Given the description of an element on the screen output the (x, y) to click on. 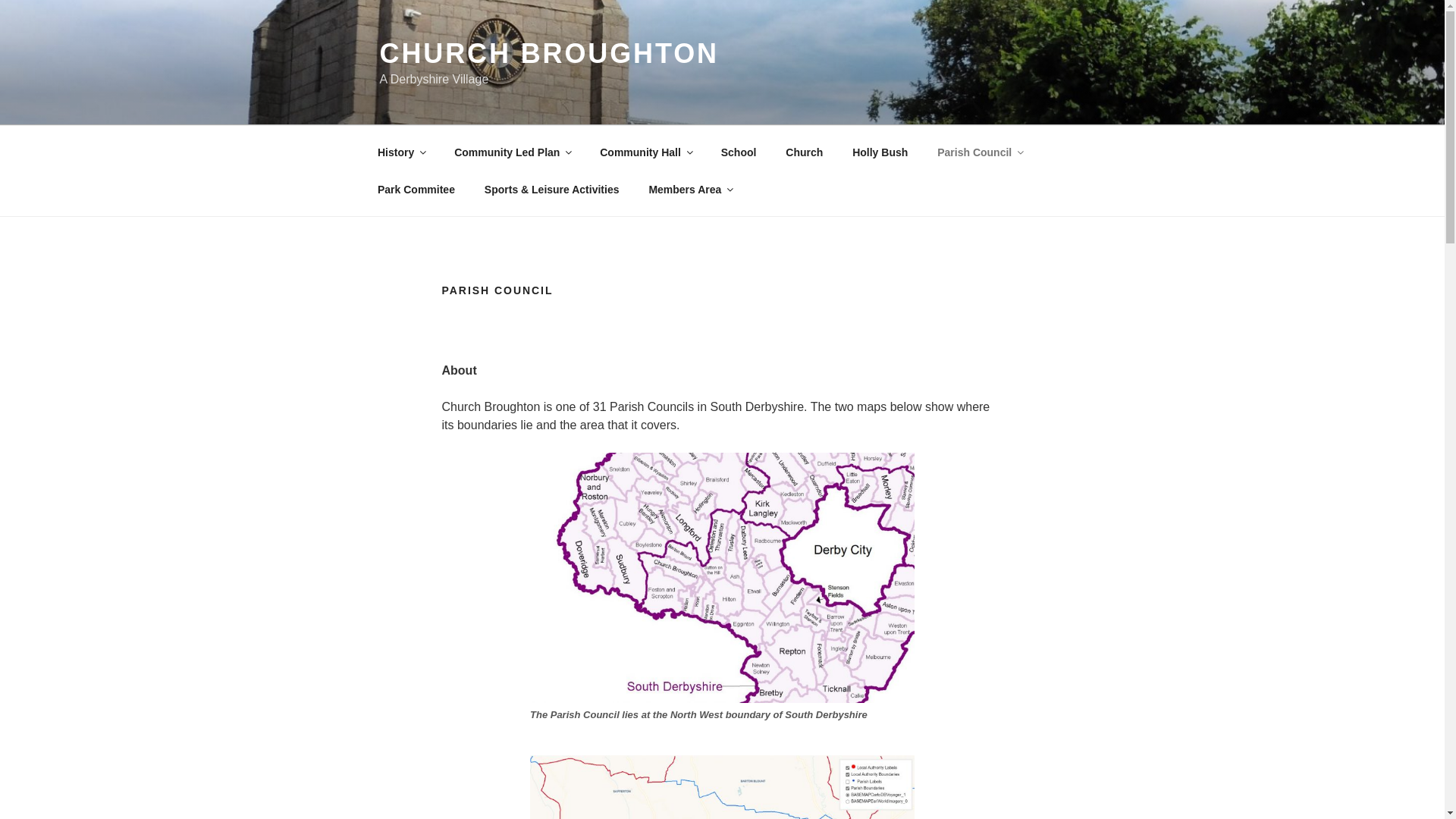
Community Hall (645, 151)
School (738, 151)
Community Led Plan (512, 151)
History (401, 151)
Parish Council (979, 151)
CHURCH BROUGHTON (547, 52)
Holly Bush (880, 151)
Church (804, 151)
